Given the description of an element on the screen output the (x, y) to click on. 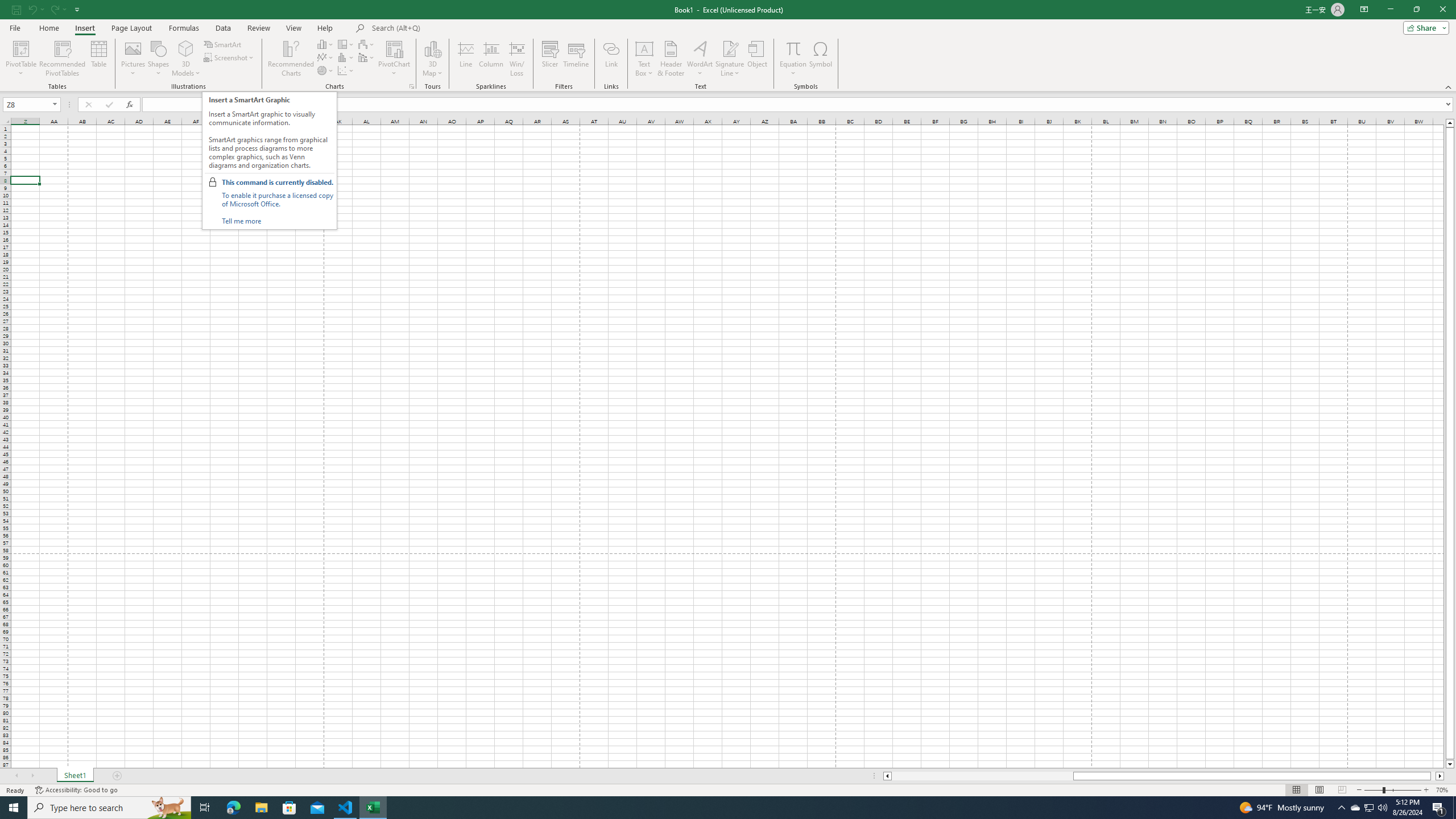
Page Break Preview (1342, 790)
Signature Line (729, 48)
Page Layout (131, 28)
Customize Quick Access Toolbar (77, 9)
Link (611, 58)
Zoom In (1426, 790)
Column (491, 58)
Insert Waterfall, Funnel, Stock, Surface, or Radar Chart (366, 44)
Zoom Out (1373, 790)
Undo (35, 9)
Insert Scatter (X, Y) or Bubble Chart (346, 69)
Open (54, 104)
Quick Access Toolbar (46, 9)
Formulas (184, 28)
Recommended Charts (411, 85)
